Given the description of an element on the screen output the (x, y) to click on. 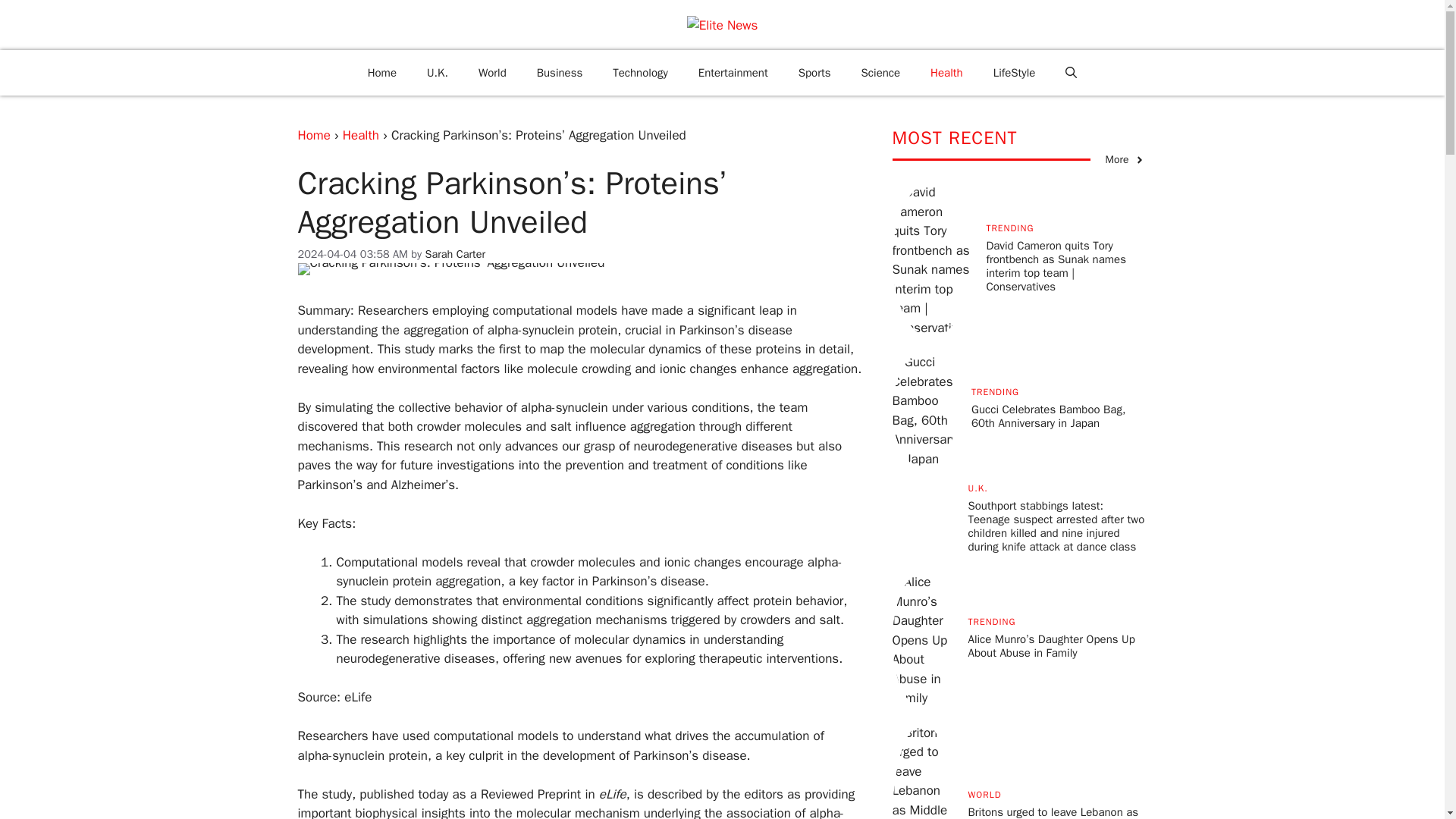
LifeStyle (1014, 72)
Home (313, 135)
Health (946, 72)
Business (559, 72)
View all posts by Sarah Carter (454, 254)
Entertainment (732, 72)
Health (360, 135)
Sports (814, 72)
Sarah Carter (454, 254)
Home (382, 72)
Science (880, 72)
Technology (639, 72)
U.K. (437, 72)
World (492, 72)
